Given the description of an element on the screen output the (x, y) to click on. 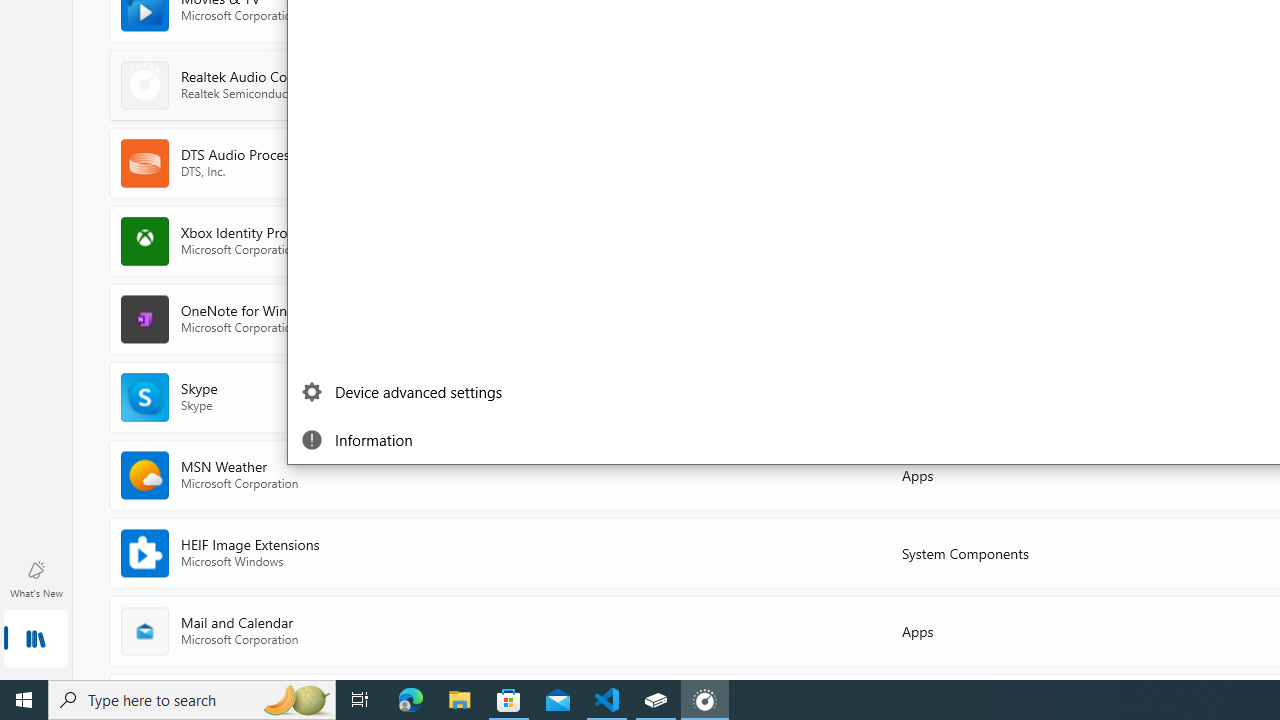
Microsoft Edge (411, 699)
Start (24, 699)
Realtek Audio Console - 1 running window (704, 699)
Xbox Console Companion - 1 running window (656, 699)
Search highlights icon opens search home window (295, 699)
Device advanced settings (406, 391)
Information (406, 439)
Task View (359, 699)
Visual Studio Code - 1 running window (607, 699)
File Explorer (460, 699)
Type here to search (191, 699)
